Given the description of an element on the screen output the (x, y) to click on. 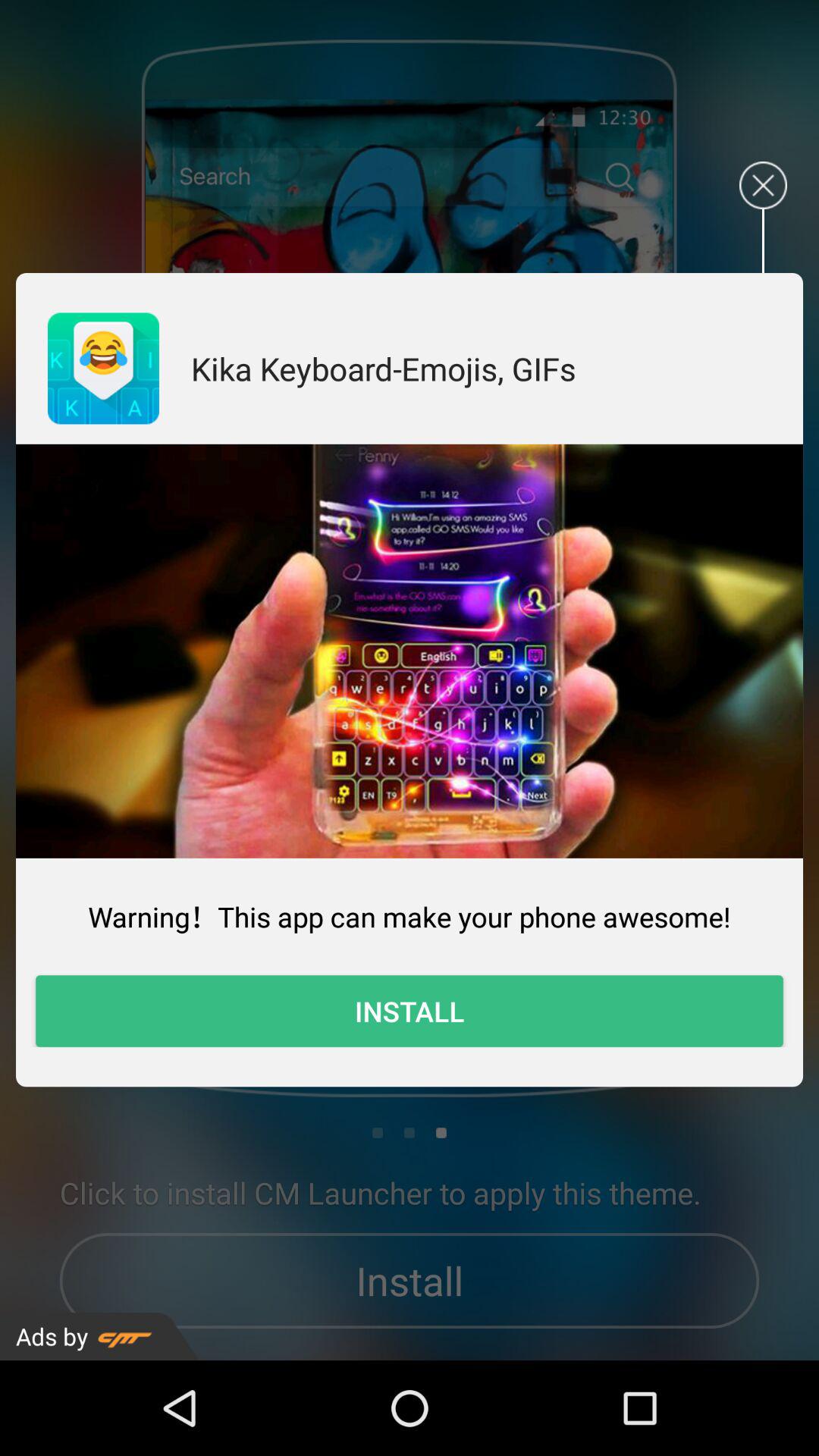
scroll until warning this app item (409, 916)
